Given the description of an element on the screen output the (x, y) to click on. 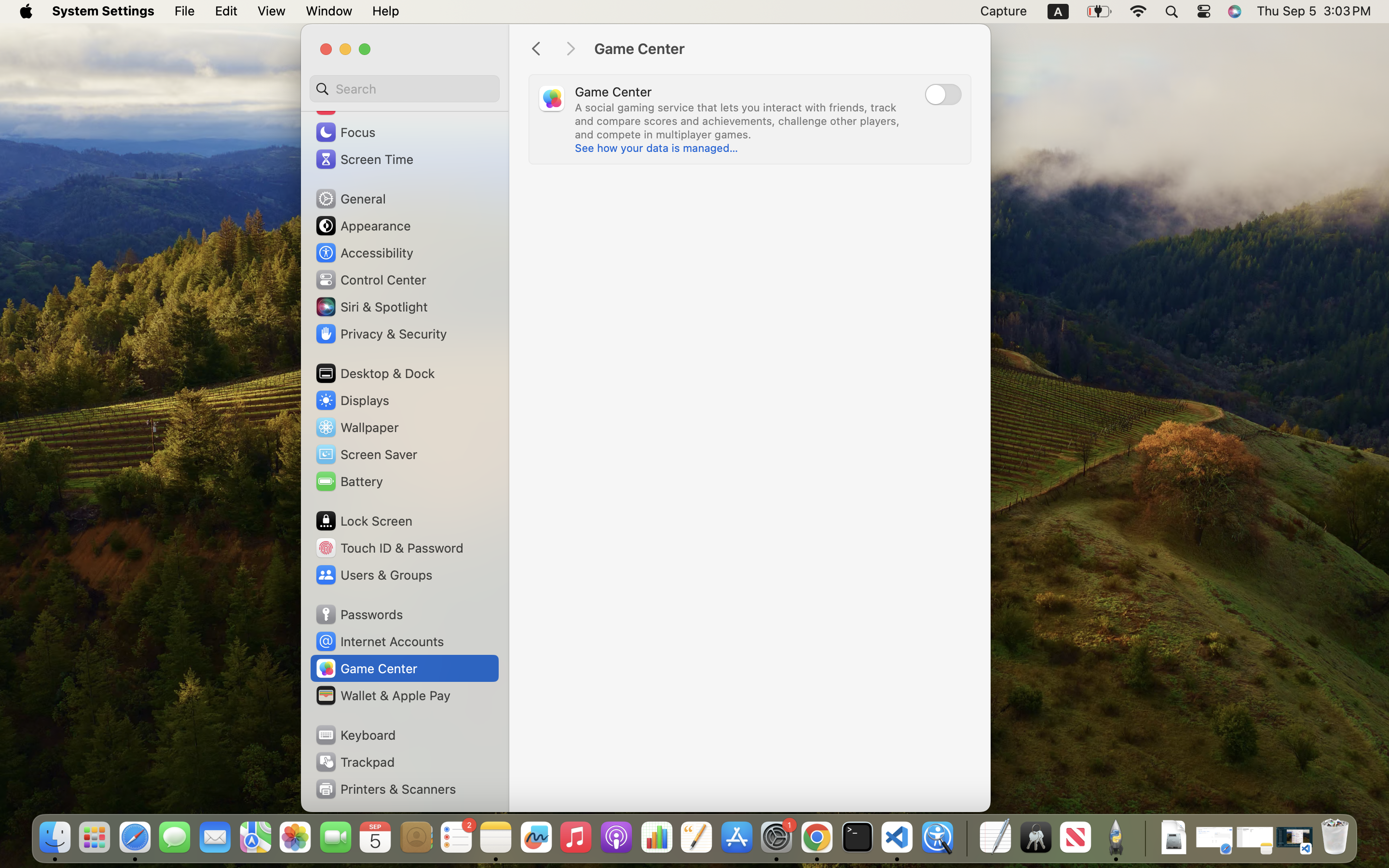
Privacy & Security Element type: AXStaticText (380, 333)
Screen Saver Element type: AXStaticText (365, 453)
Printers & Scanners Element type: AXStaticText (385, 788)
Appearance Element type: AXStaticText (362, 225)
Control Center Element type: AXStaticText (370, 279)
